Given the description of an element on the screen output the (x, y) to click on. 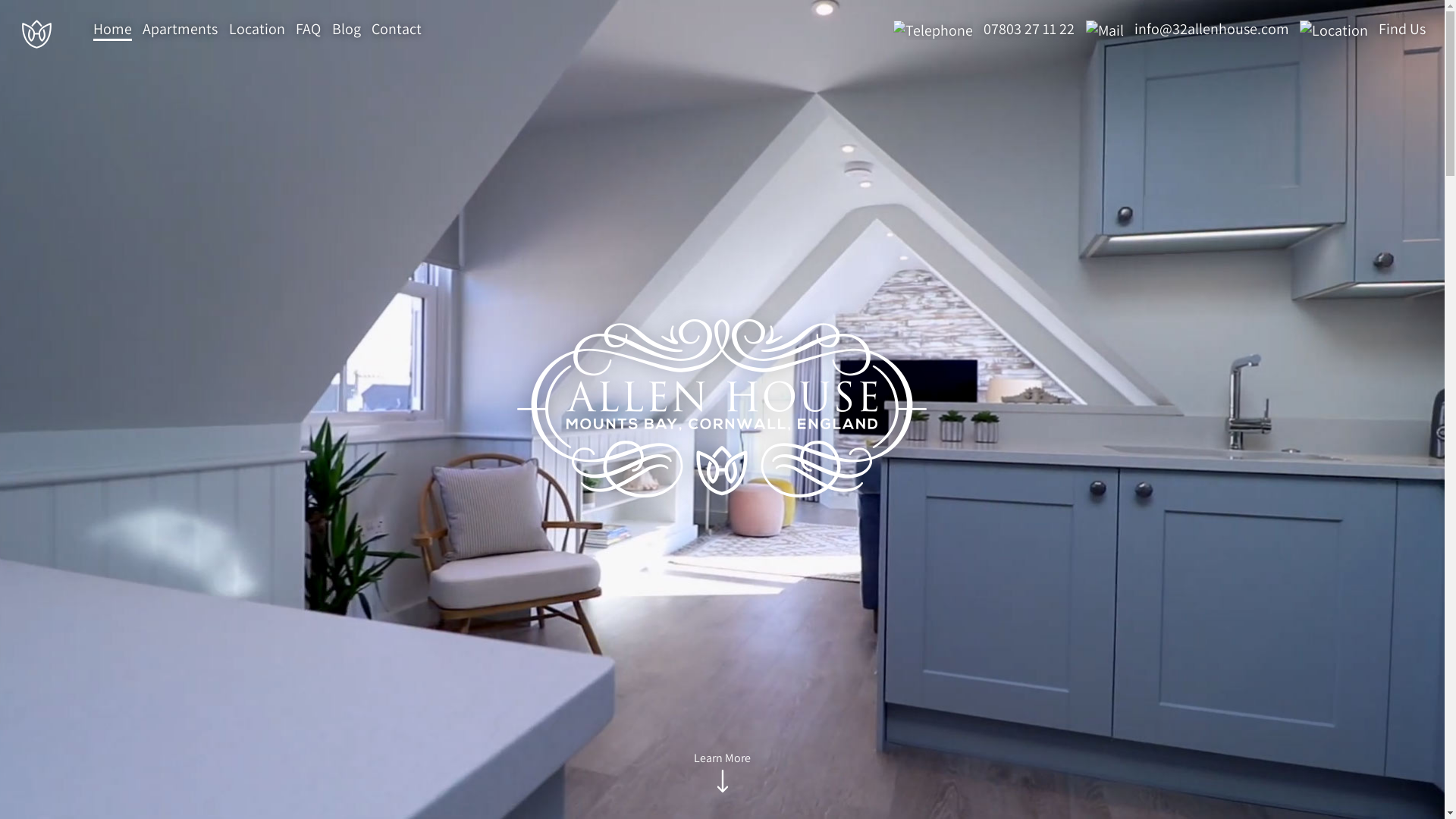
Contact Element type: text (396, 29)
Find Us Element type: text (1358, 28)
Home Element type: text (112, 29)
Learn More Element type: text (721, 772)
FAQ Element type: text (307, 29)
info@32allenhouse.com Element type: text (1183, 28)
07803 27 11 22 Element type: text (979, 28)
Apartments Element type: text (179, 29)
Location Element type: text (257, 29)
Blog Element type: text (346, 29)
